Given the description of an element on the screen output the (x, y) to click on. 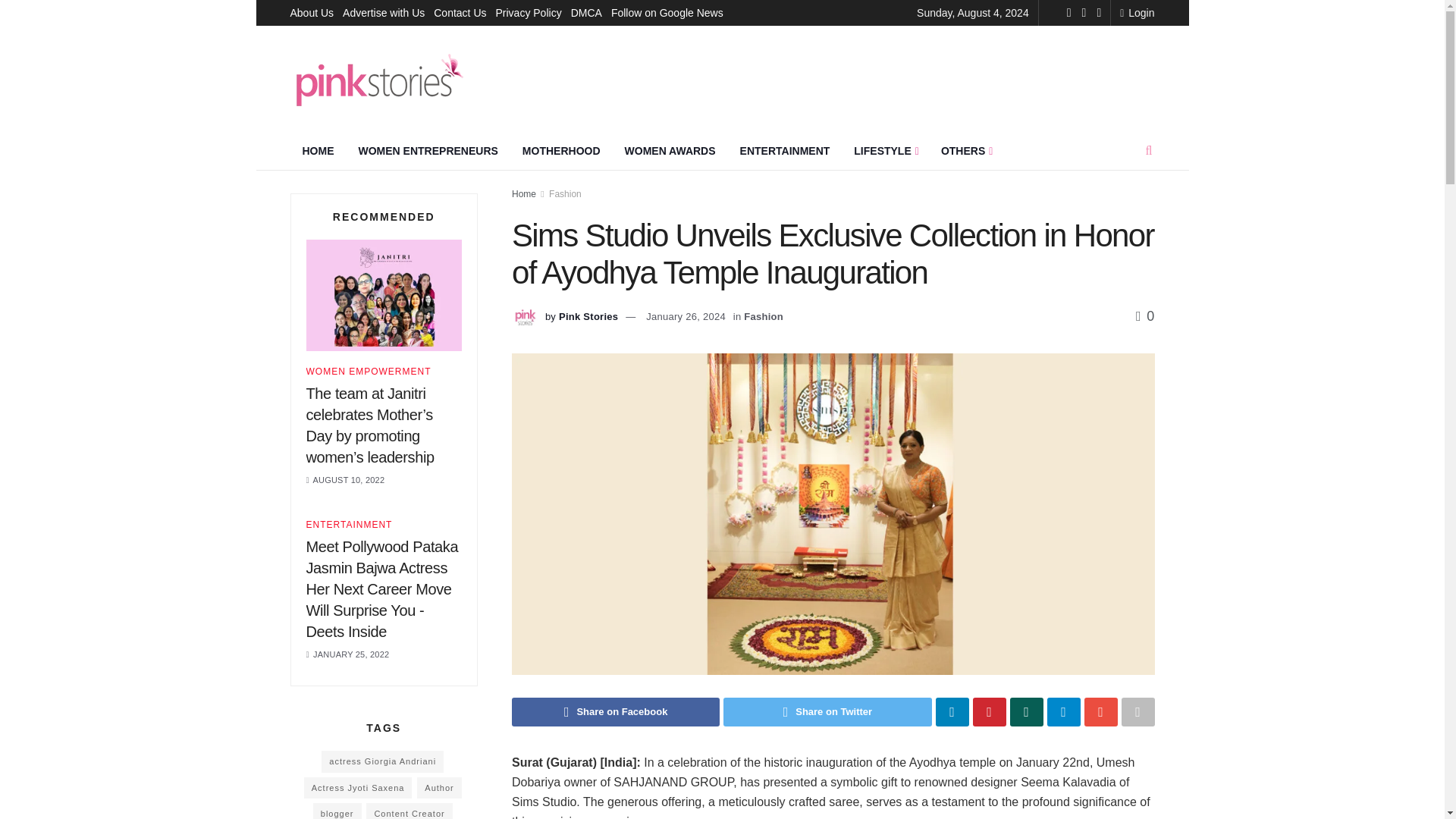
OTHERS (965, 150)
Follow on Google News (667, 12)
WOMEN AWARDS (670, 150)
LIFESTYLE (884, 150)
Contact Us (459, 12)
DMCA (586, 12)
MOTHERHOOD (561, 150)
About Us (311, 12)
Login (1136, 12)
WOMEN ENTREPRENEURS (427, 150)
Advertise with Us (383, 12)
Privacy Policy (529, 12)
HOME (317, 150)
ENTERTAINMENT (785, 150)
